Given the description of an element on the screen output the (x, y) to click on. 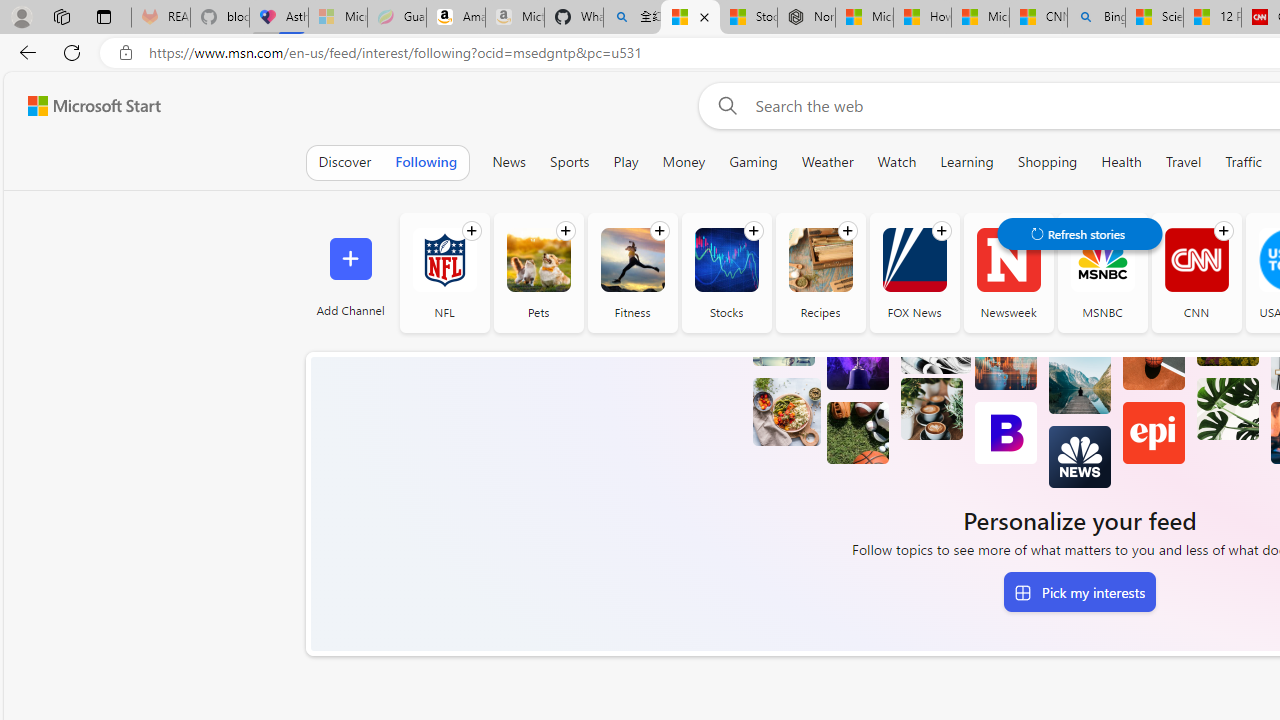
Fitness (632, 260)
Gaming (753, 161)
Weather (827, 162)
NFL (444, 272)
Microsoft-Report a Concern to Bing - Sleeping (337, 17)
Nordace - Nordace Siena Is Not An Ordinary Backpack (806, 17)
Health (1121, 162)
Follow channel (1223, 231)
Money (683, 161)
